Given the description of an element on the screen output the (x, y) to click on. 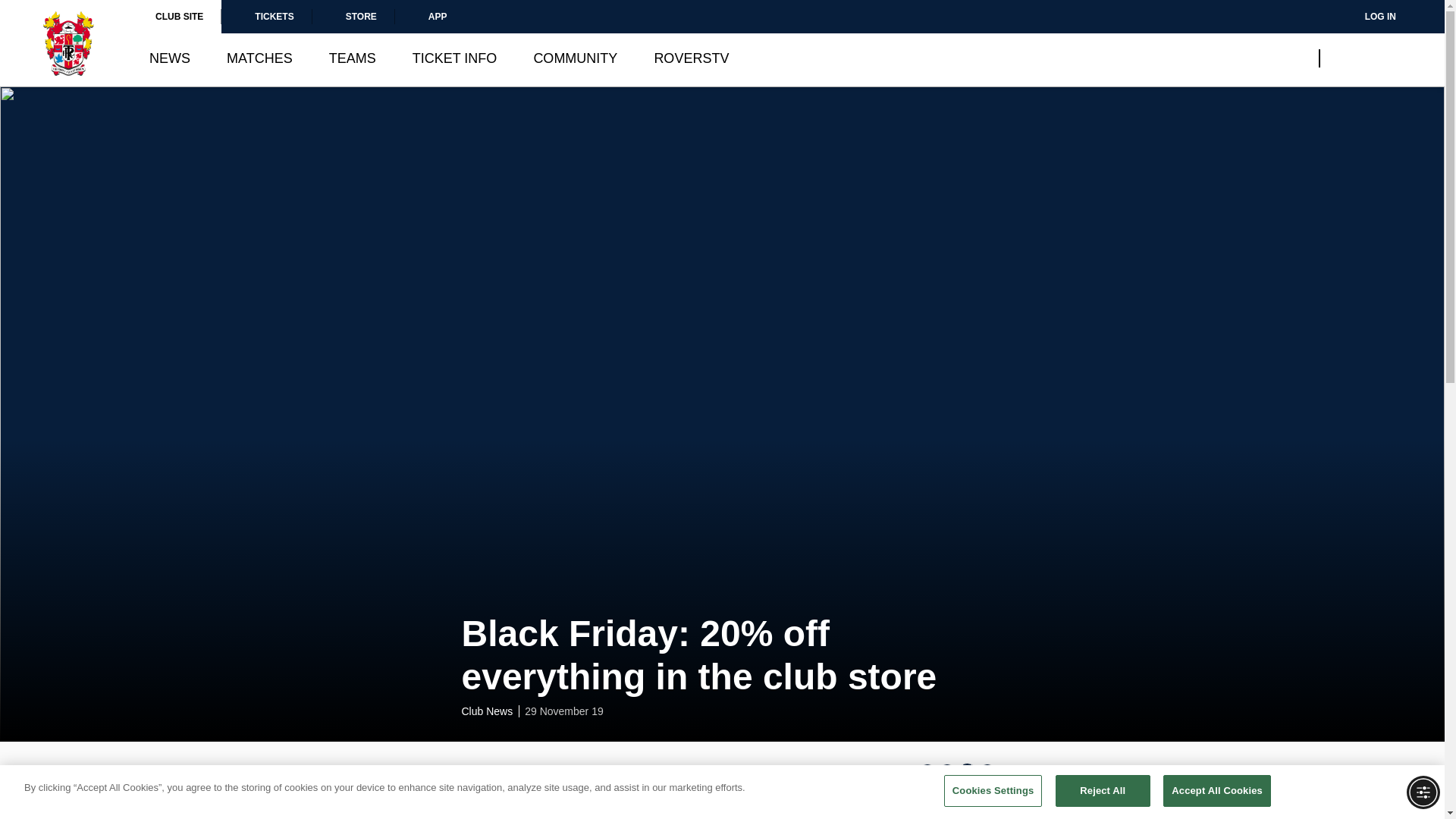
ROVERSTV (691, 58)
CLUB SITE (178, 16)
LOG IN (1369, 16)
APP (429, 16)
COMMUNITY (574, 58)
STORE (353, 16)
TEAMS (352, 58)
MATCHES (259, 58)
TICKET INFO (454, 58)
Accessibility Menu (1422, 792)
